Given the description of an element on the screen output the (x, y) to click on. 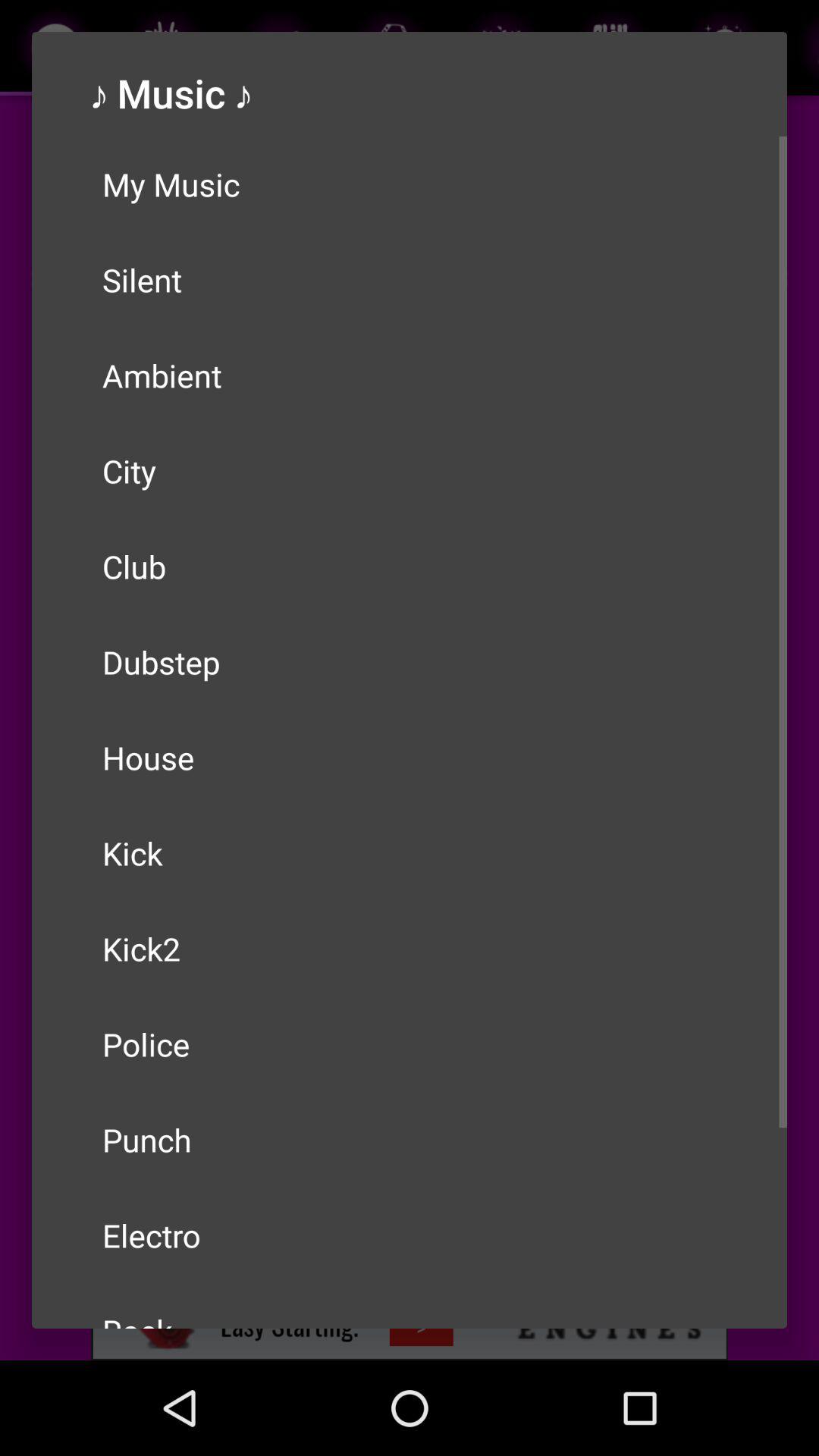
turn on icon above 		police icon (409, 948)
